Given the description of an element on the screen output the (x, y) to click on. 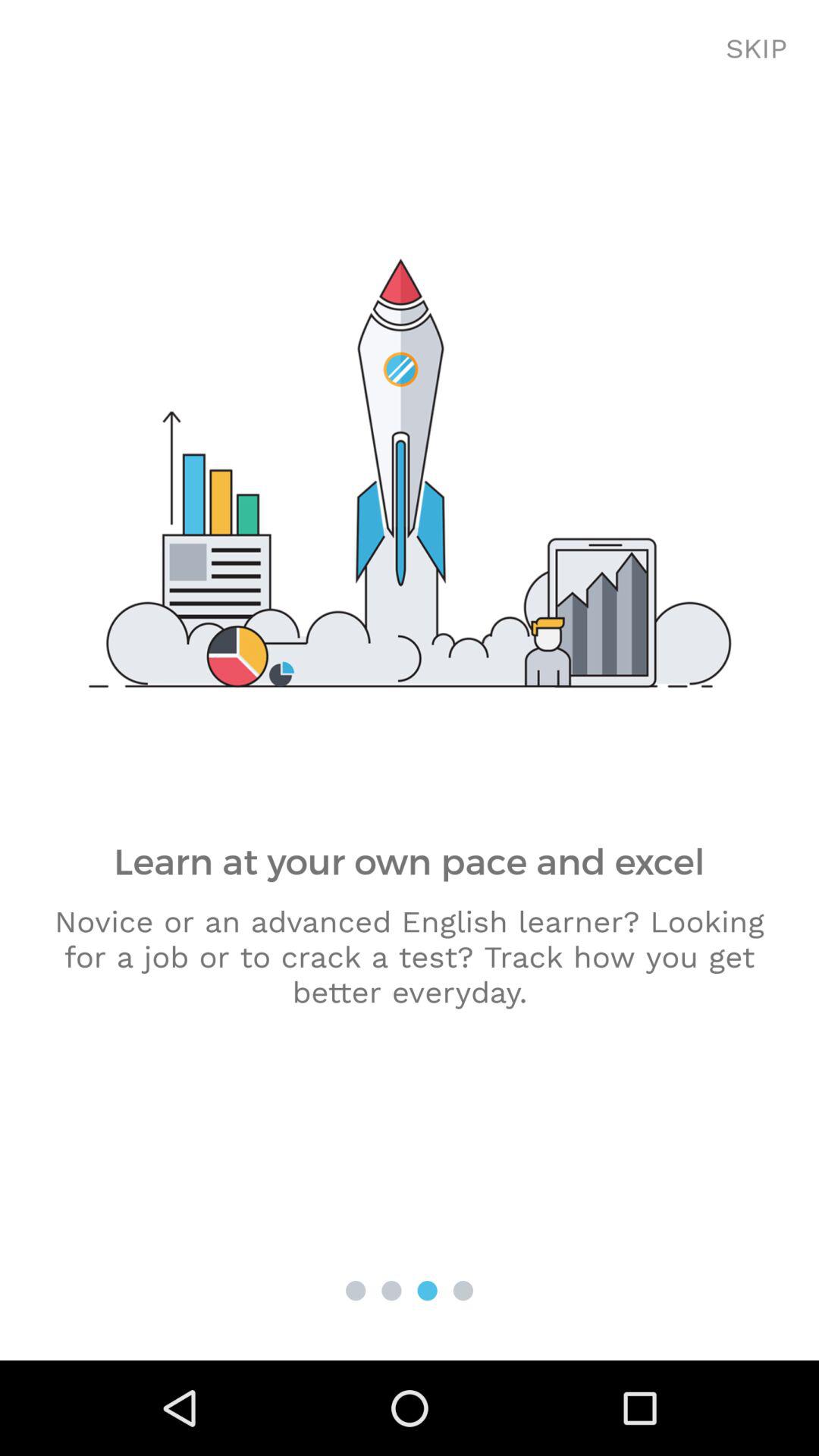
tap the skip at the top right corner (756, 49)
